Given the description of an element on the screen output the (x, y) to click on. 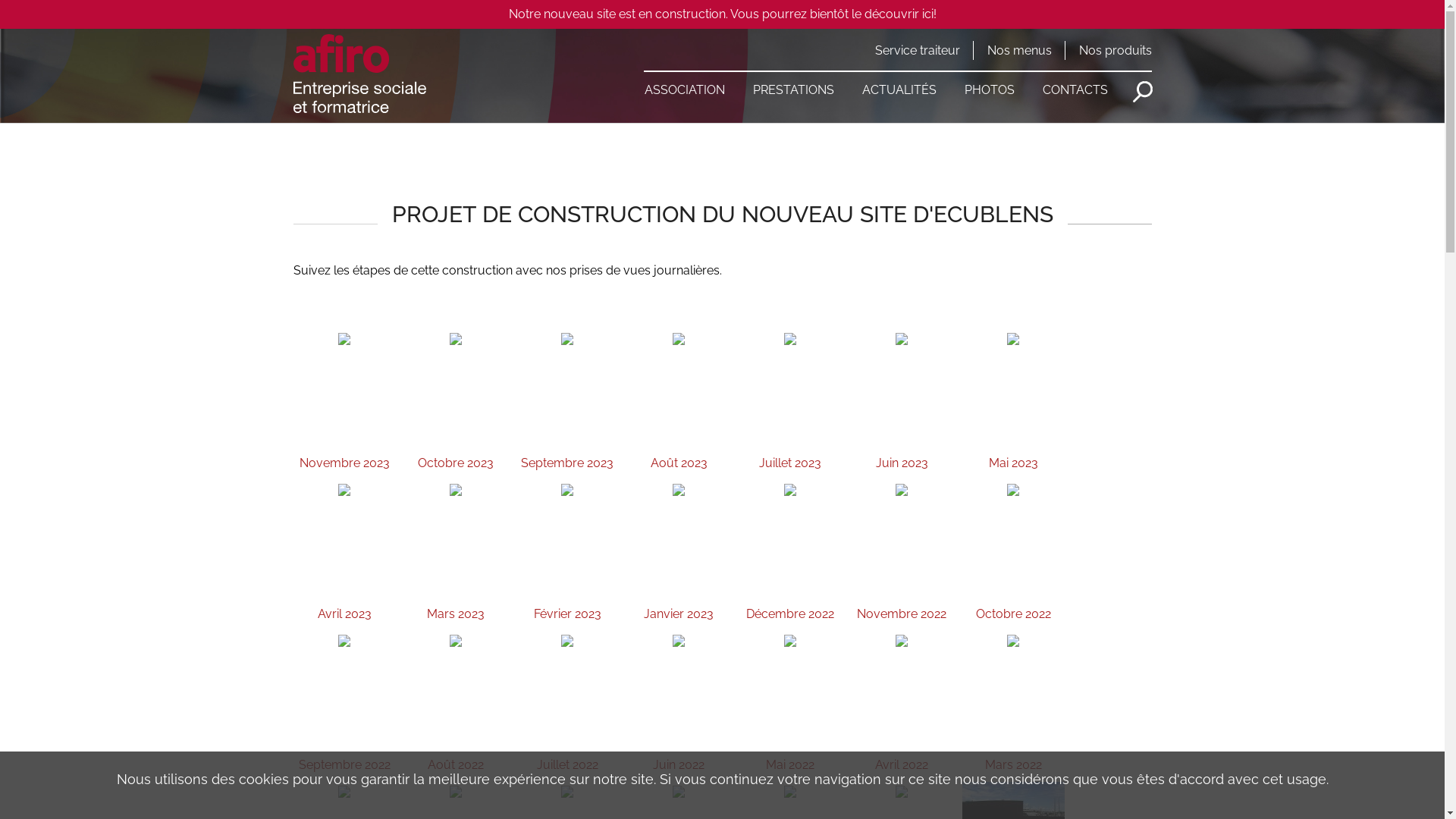
Nos produits Element type: text (1114, 50)
ASSOCIATION Element type: text (684, 83)
Service traiteur Element type: text (917, 50)
CONTACTS Element type: text (1074, 83)
VALIDER Element type: text (1142, 91)
PRESTATIONS Element type: text (792, 83)
Nos menus Element type: text (1019, 50)
PHOTOS Element type: text (989, 83)
